Given the description of an element on the screen output the (x, y) to click on. 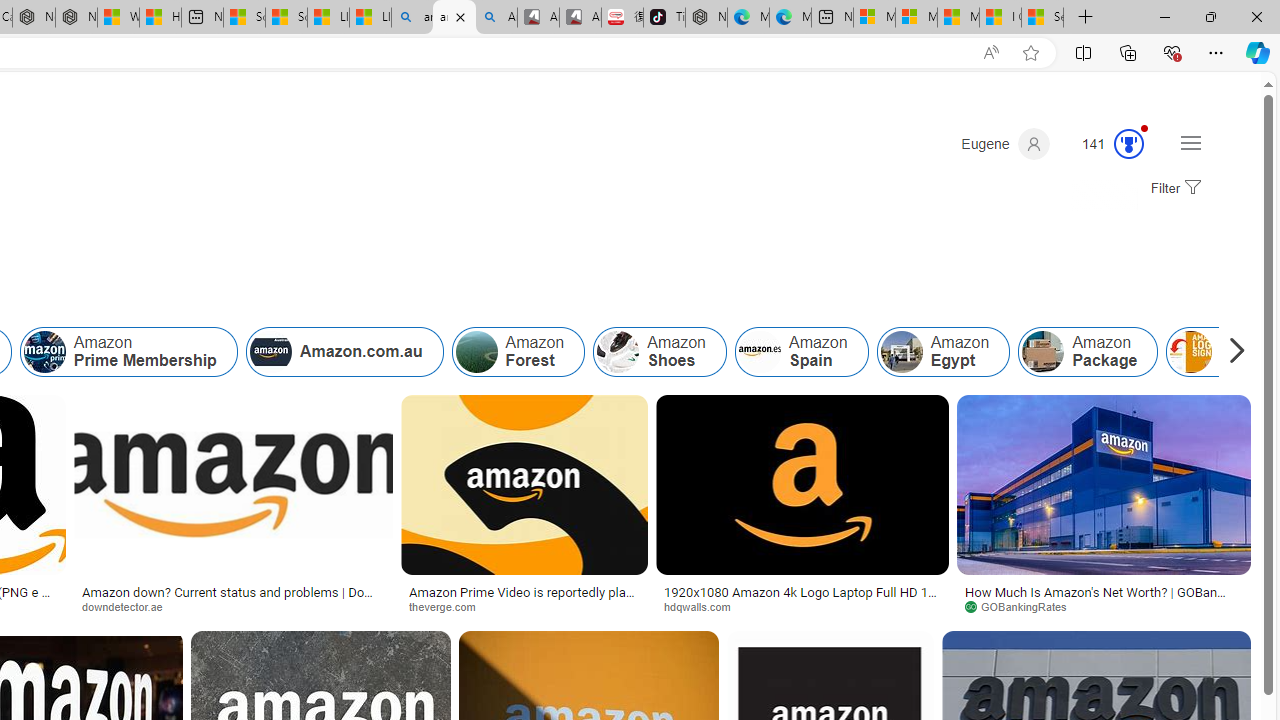
hdqwalls.com (704, 605)
Class: item col (1087, 351)
Amazon Echo Robot - Search Images (496, 17)
Amazon Login (1191, 351)
Nordace - Summer Adventures 2024 (76, 17)
Class: medal-circled (1129, 143)
Eugene (1005, 143)
Amazon Egypt (942, 351)
hdqwalls.com (802, 606)
